Given the description of an element on the screen output the (x, y) to click on. 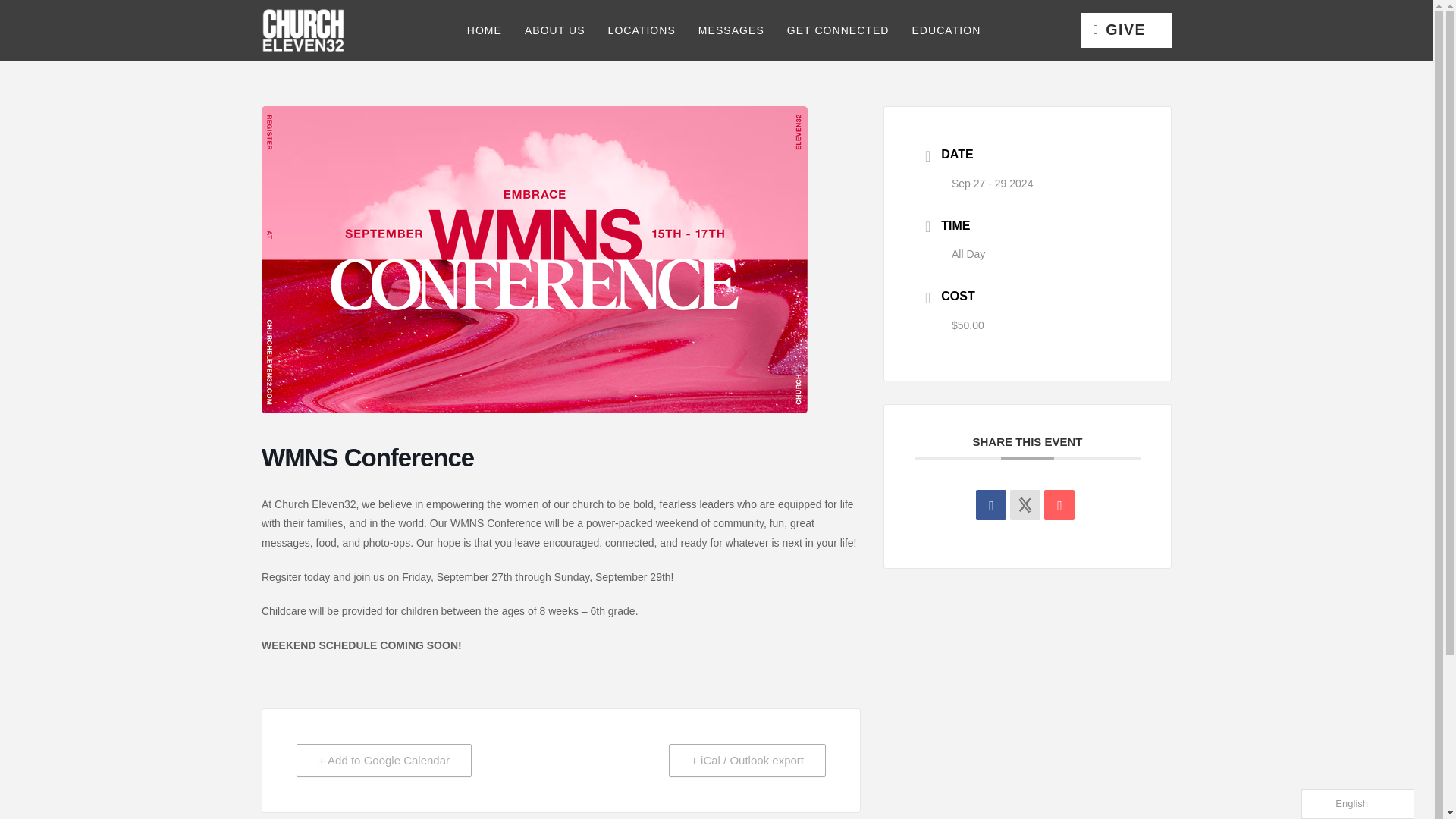
Email (1058, 504)
ABOUT US (553, 30)
EDUCATION (945, 30)
GIVE (1126, 30)
X Social Network (1025, 504)
Share on Facebook (990, 504)
LOCATIONS (640, 30)
GET CONNECTED (836, 30)
HOME (483, 30)
MESSAGES (729, 30)
